Given the description of an element on the screen output the (x, y) to click on. 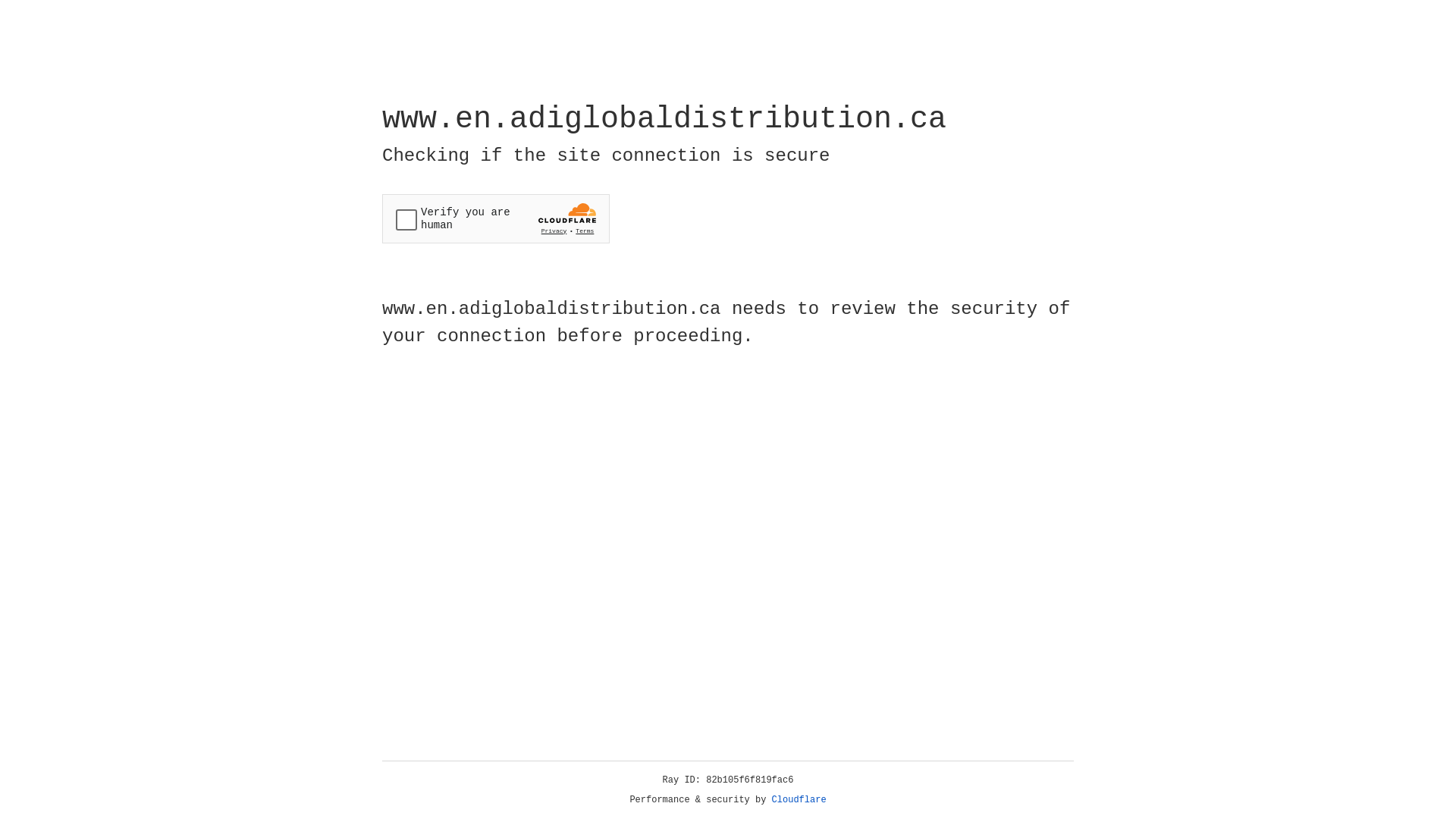
Cloudflare Element type: text (798, 799)
Widget containing a Cloudflare security challenge Element type: hover (495, 218)
